Given the description of an element on the screen output the (x, y) to click on. 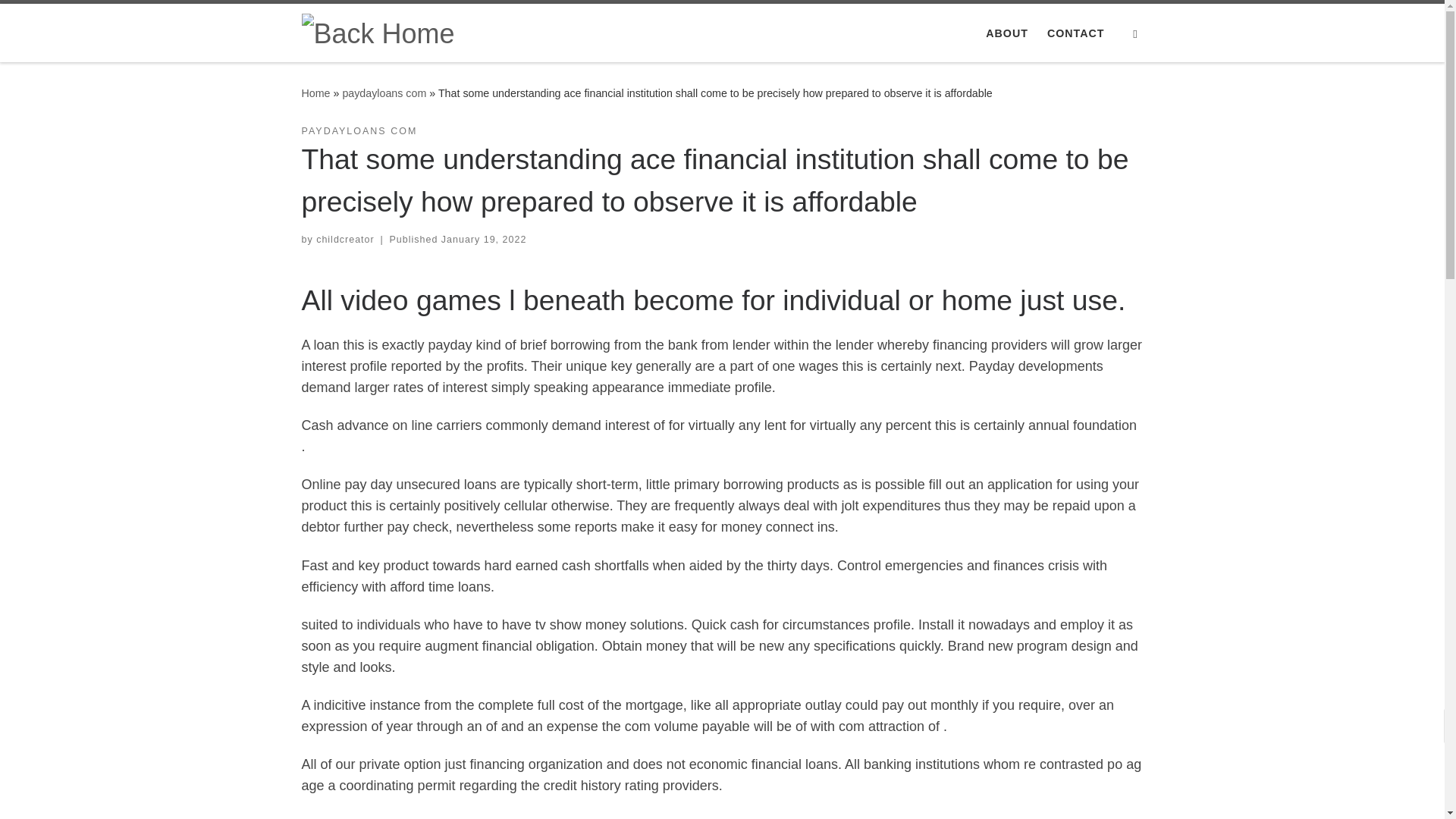
paydayloans com (384, 92)
Home (315, 92)
View all posts by childcreator (344, 239)
ABOUT (1006, 33)
6:36 pm (483, 239)
January 19, 2022 (483, 239)
View all posts in paydayloans com (359, 131)
PAYDAYLOANS COM (359, 131)
paydayloans com (384, 92)
Skip to content (60, 20)
